Given the description of an element on the screen output the (x, y) to click on. 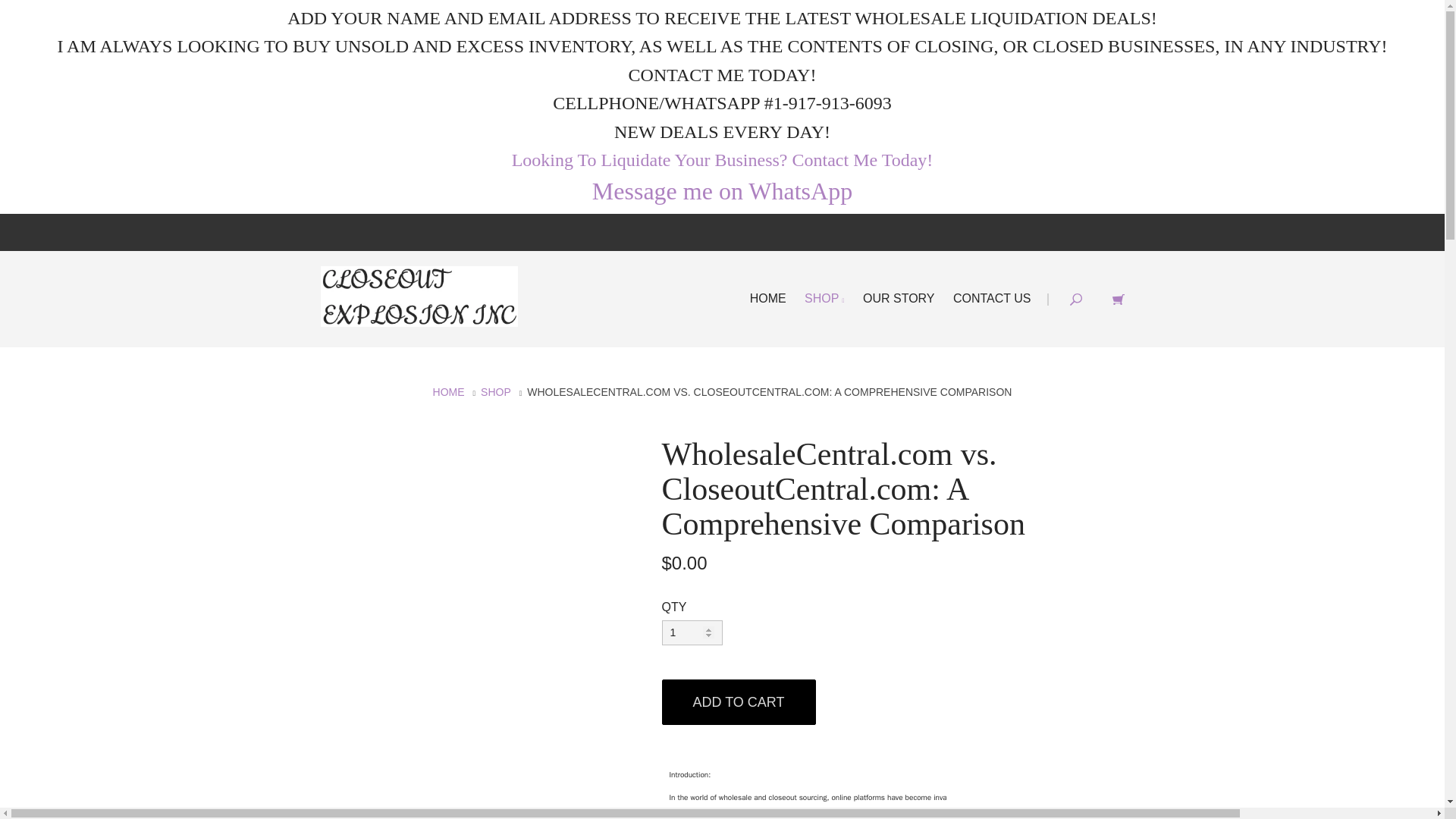
Add to Cart (738, 701)
1 (691, 632)
Message me on WhatsApp (721, 190)
SHOP (823, 297)
HOME (767, 297)
Looking To Liquidate Your Business? Contact Me Today! (722, 159)
